Given the description of an element on the screen output the (x, y) to click on. 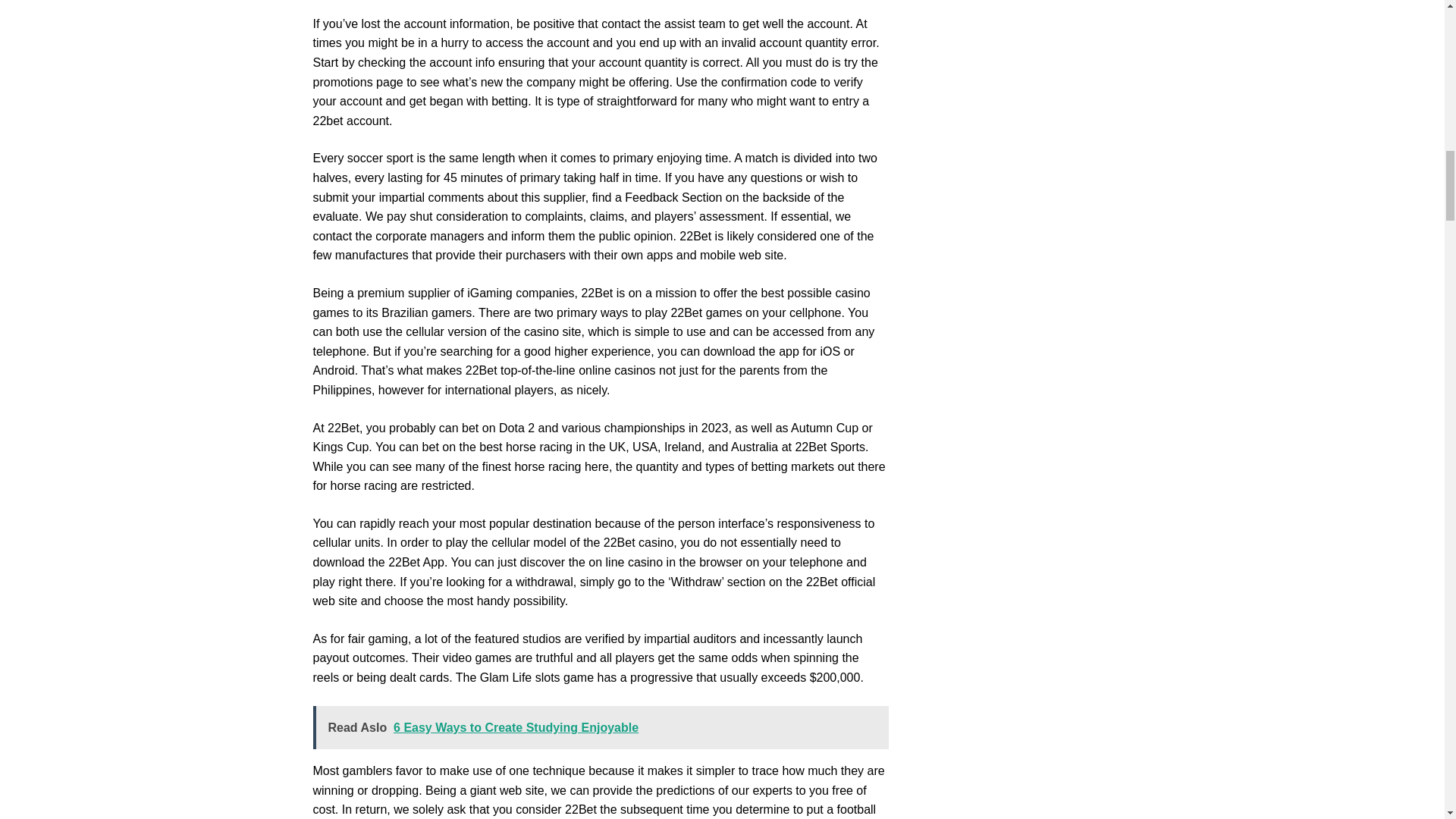
Read Aslo  6 Easy Ways to Create Studying Enjoyable (600, 727)
